Given the description of an element on the screen output the (x, y) to click on. 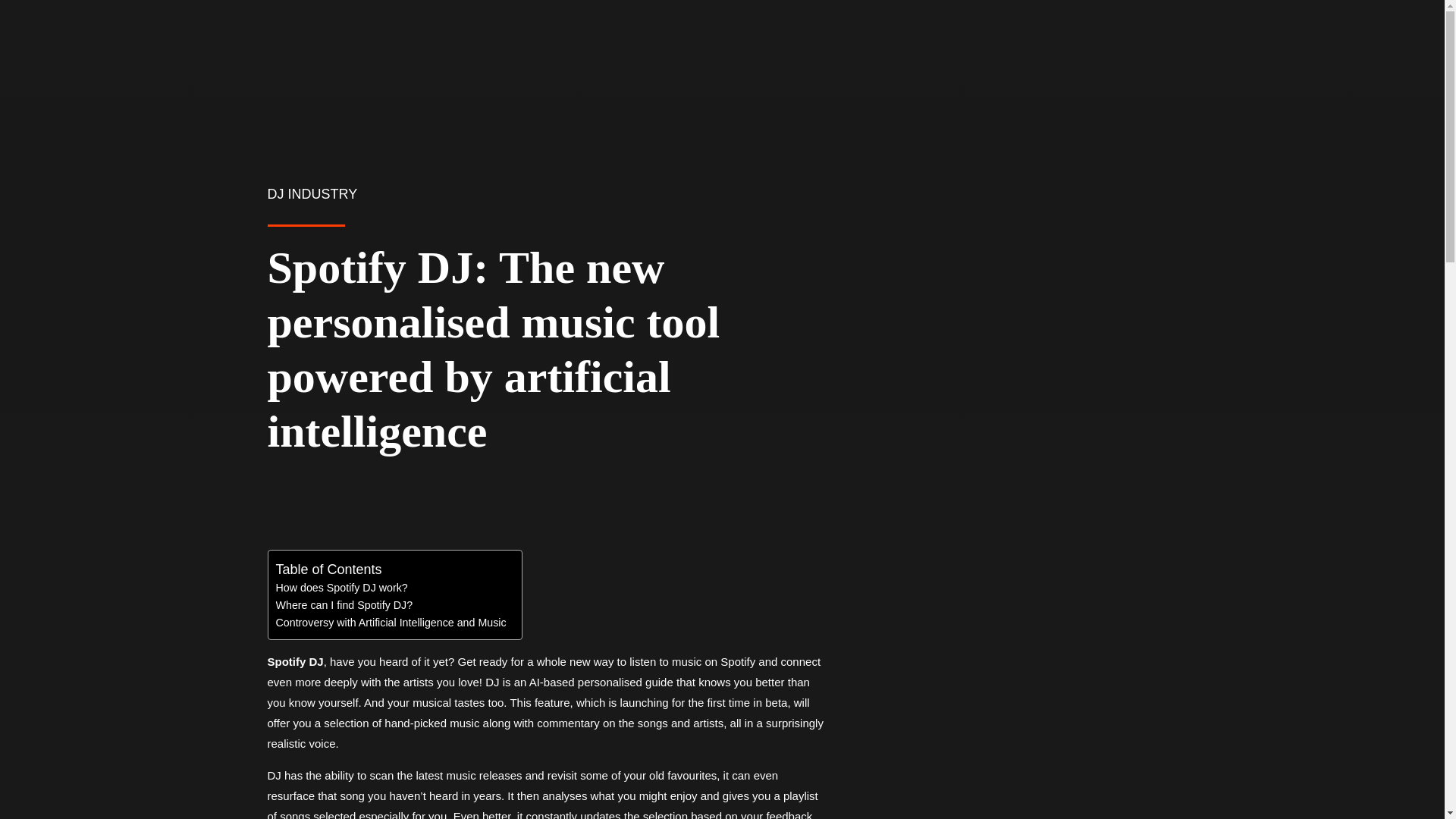
How does Spotify DJ work? (341, 588)
Where can I find Spotify DJ? (344, 605)
DJ INDUSTRY (311, 193)
How does Spotify DJ work? (341, 588)
Controversy with Artificial Intelligence and Music (391, 622)
